Given the description of an element on the screen output the (x, y) to click on. 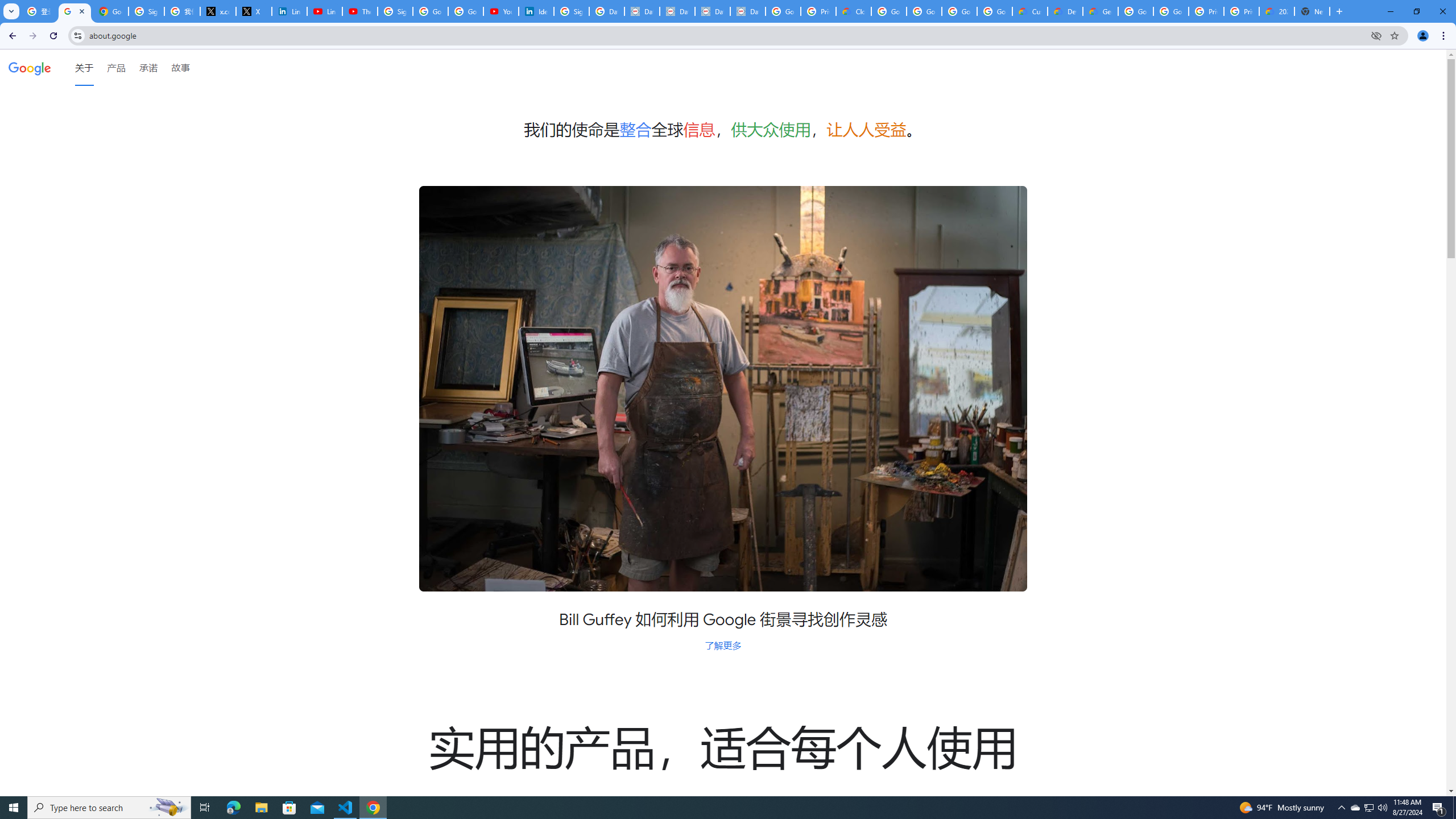
Sign in - Google Accounts (145, 11)
Google Cloud Platform (1135, 11)
Data Privacy Framework (712, 11)
Google Cloud Platform (1170, 11)
LinkedIn Privacy Policy (288, 11)
New Tab (1312, 11)
Google Workspace - Specific Terms (994, 11)
Data Privacy Framework (677, 11)
